Given the description of an element on the screen output the (x, y) to click on. 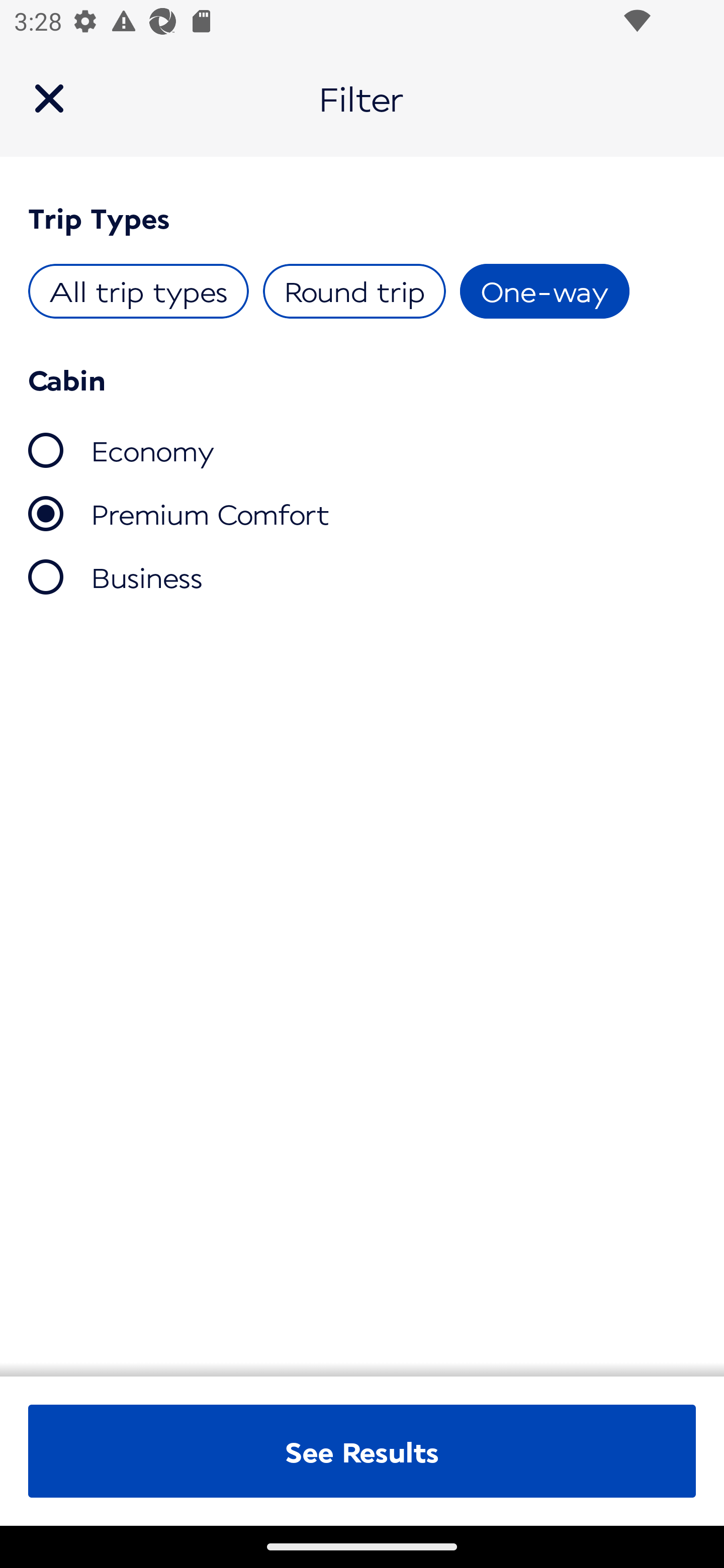
All trip types (138, 291)
Round trip (353, 291)
One-way (544, 291)
See Results (361, 1450)
